Given the description of an element on the screen output the (x, y) to click on. 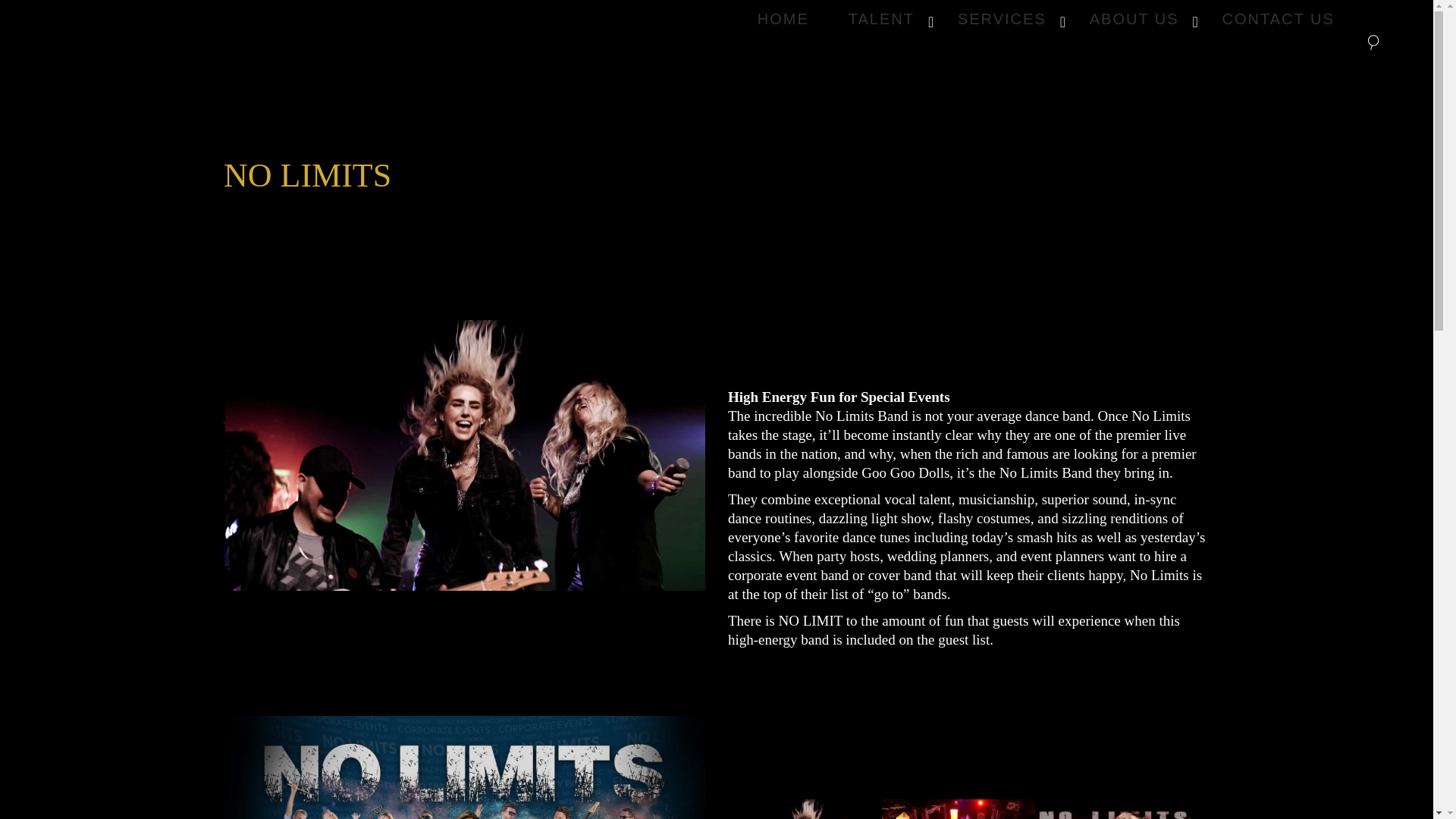
No Limits 1 (464, 455)
HOME (783, 18)
No Limits 2 (1046, 18)
CONTACT US (464, 767)
